Given the description of an element on the screen output the (x, y) to click on. 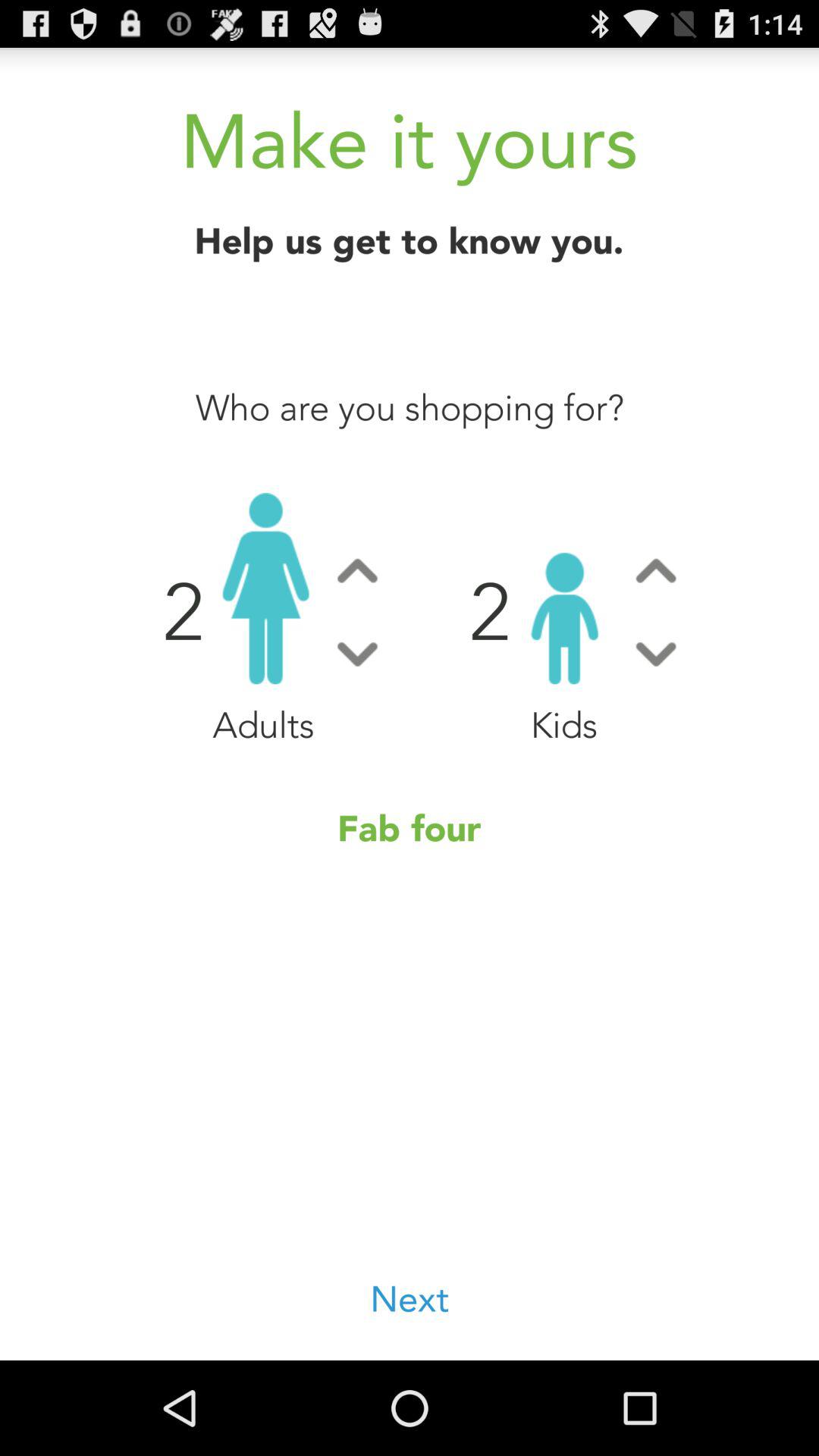
increase button (655, 570)
